Given the description of an element on the screen output the (x, y) to click on. 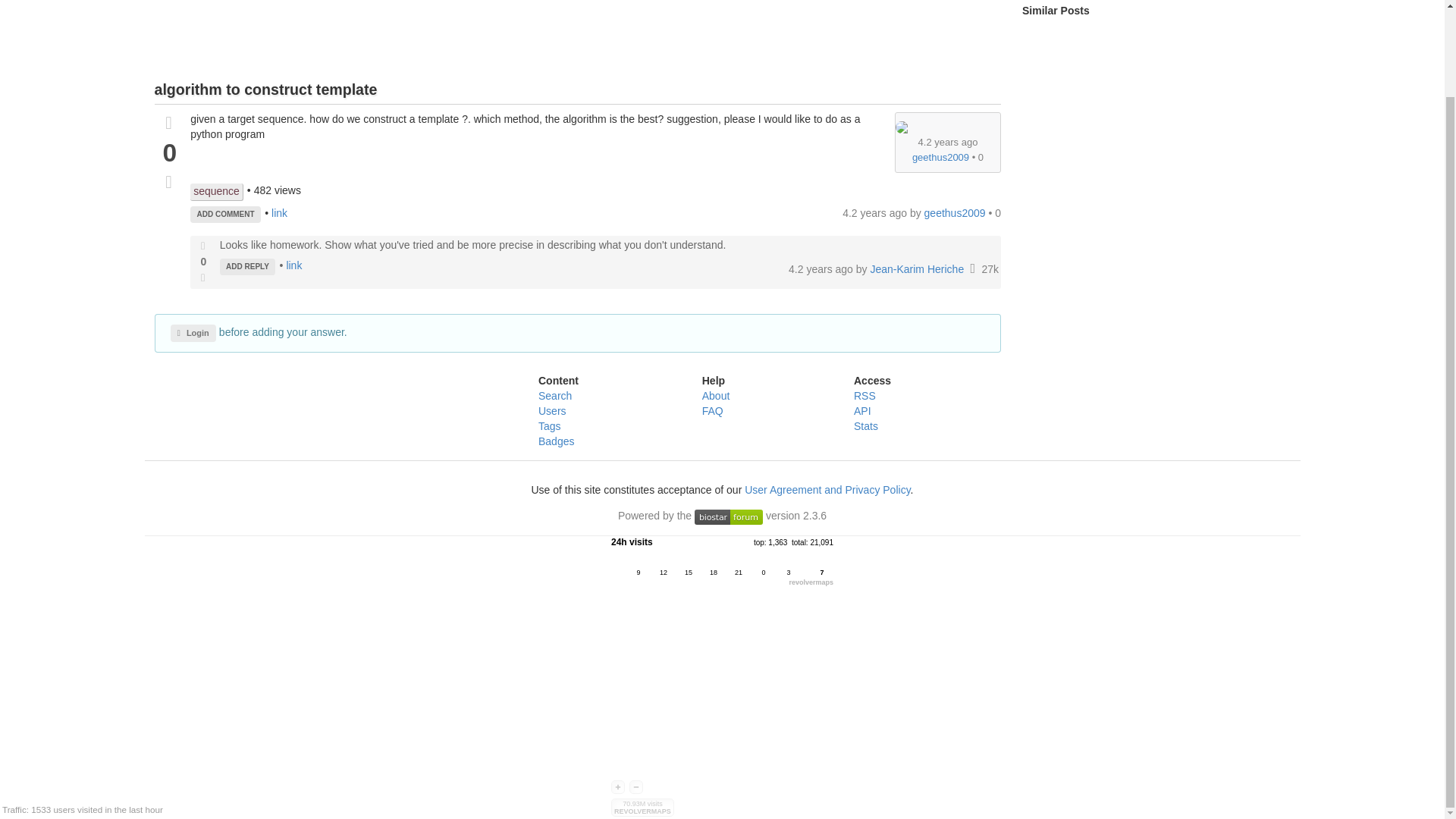
geethus2009 (956, 213)
geethus2009 (940, 156)
3rd party ad content (577, 38)
sequence (216, 191)
link (293, 265)
ADD COMMENT (225, 214)
ADD REPLY (247, 266)
link (278, 213)
